Given the description of an element on the screen output the (x, y) to click on. 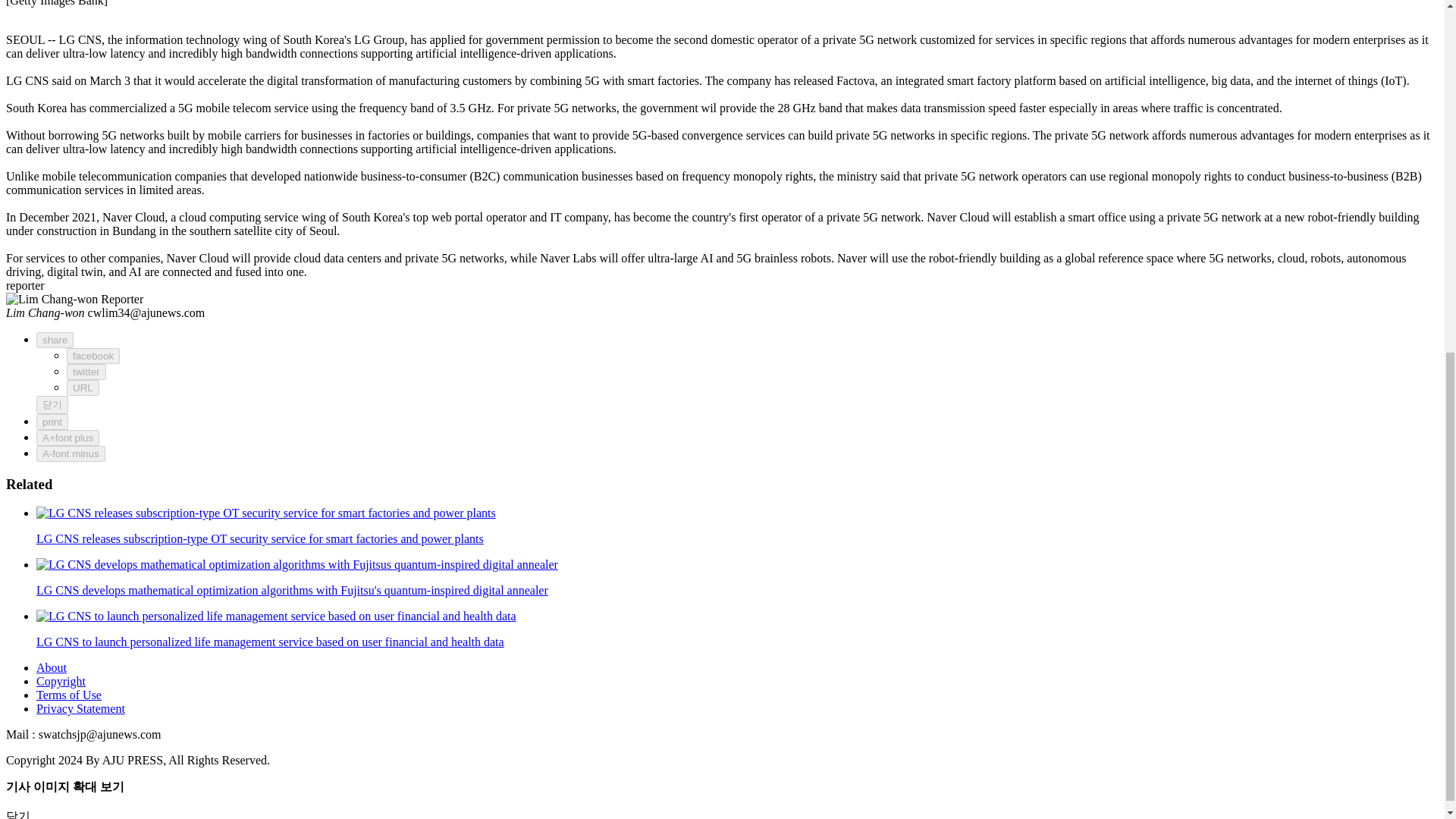
print (52, 421)
About (51, 667)
Terms of Use (68, 694)
Copyright (60, 680)
share (55, 340)
URL (82, 387)
Privacy Statement (80, 707)
A-font minus (70, 453)
twitter (86, 371)
facebook (92, 355)
